Given the description of an element on the screen output the (x, y) to click on. 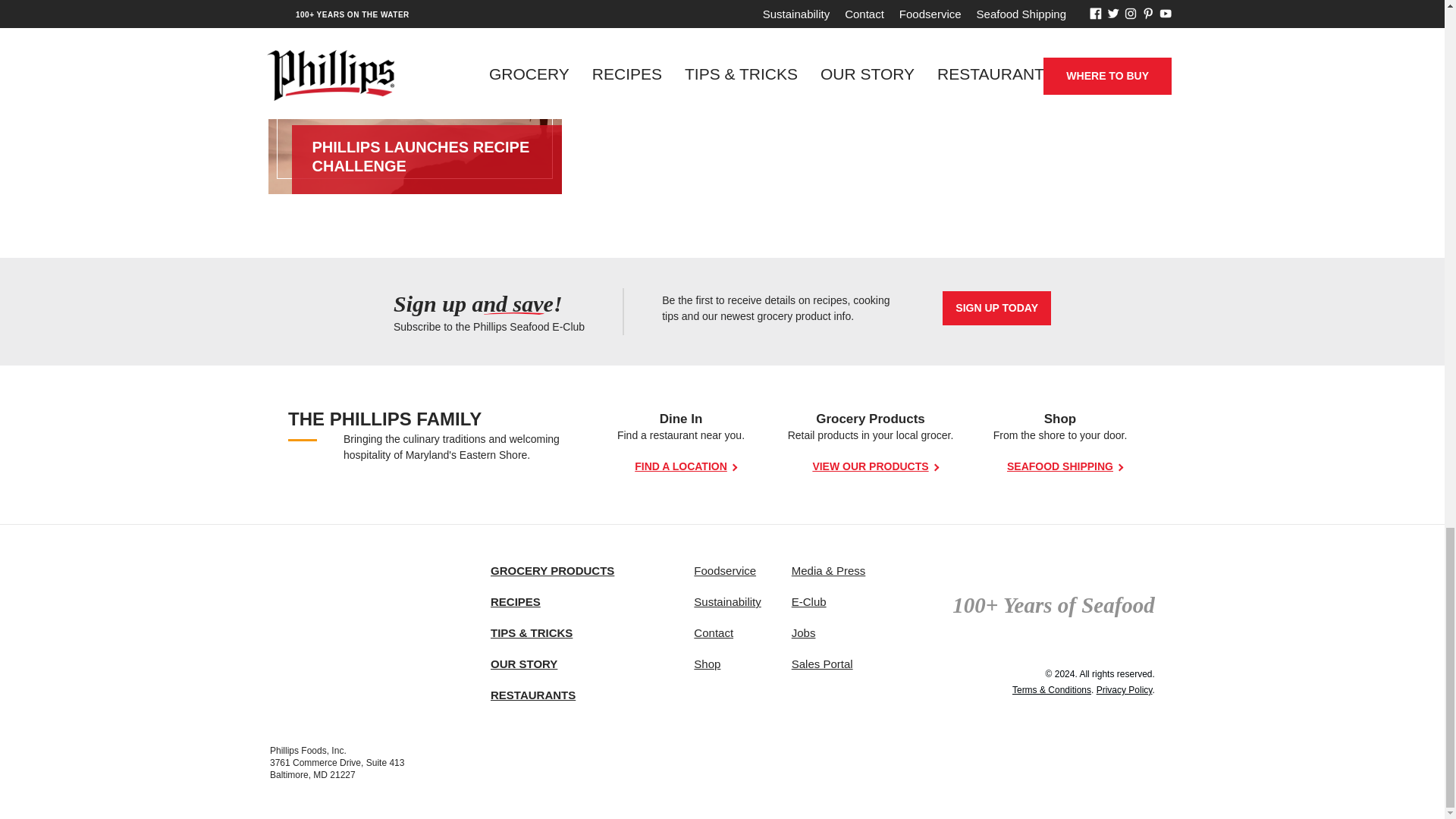
Privacy Policy (1124, 689)
